Given the description of an element on the screen output the (x, y) to click on. 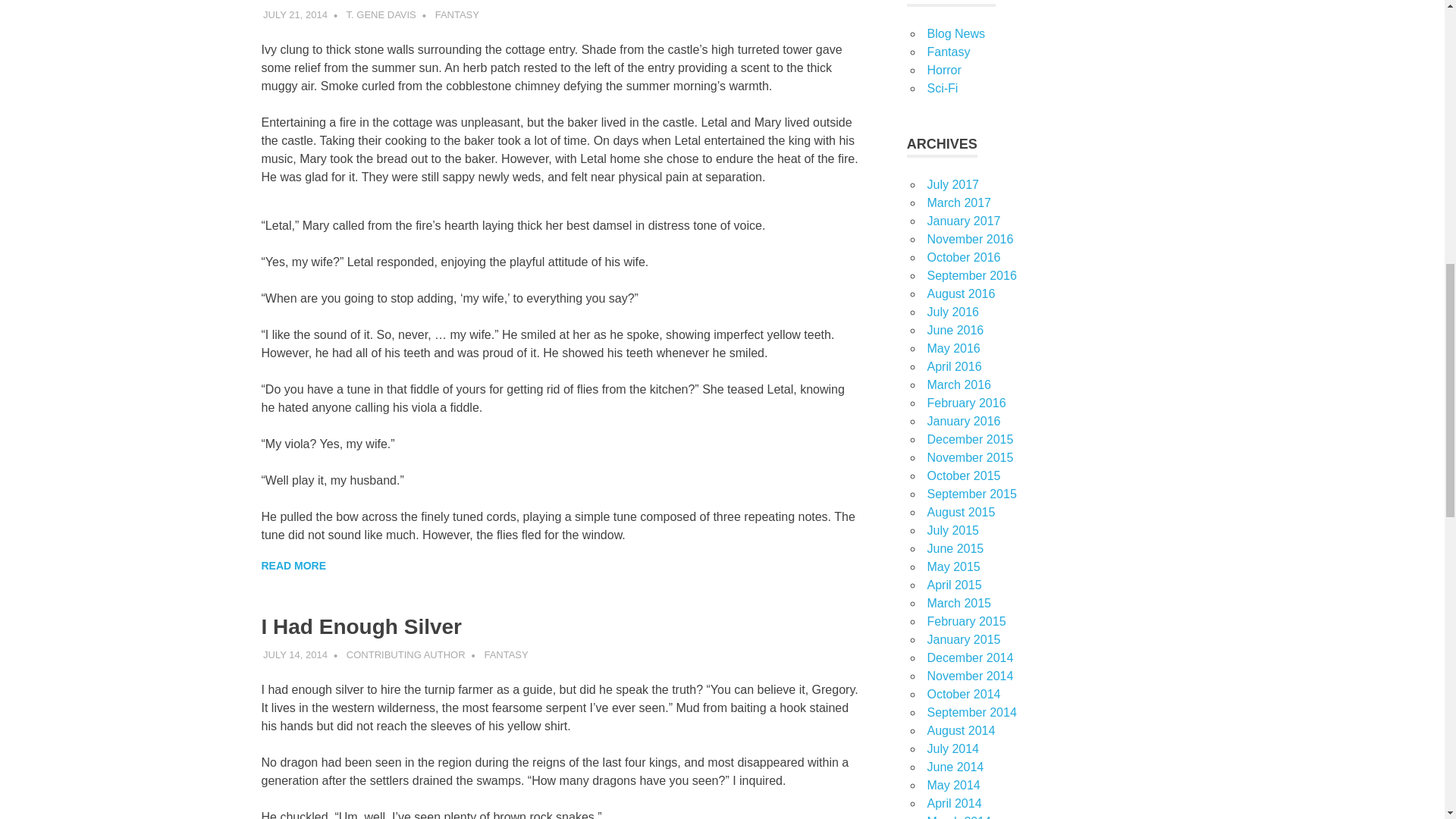
READ MORE (293, 565)
FANTASY (457, 14)
T. GENE DAVIS (381, 14)
JULY 21, 2014 (295, 14)
8:00 am (295, 654)
8:00 am (295, 14)
FANTASY (505, 654)
View all posts by T. Gene Davis (381, 14)
View all posts by Contributing Author (405, 654)
JULY 14, 2014 (295, 654)
